Given the description of an element on the screen output the (x, y) to click on. 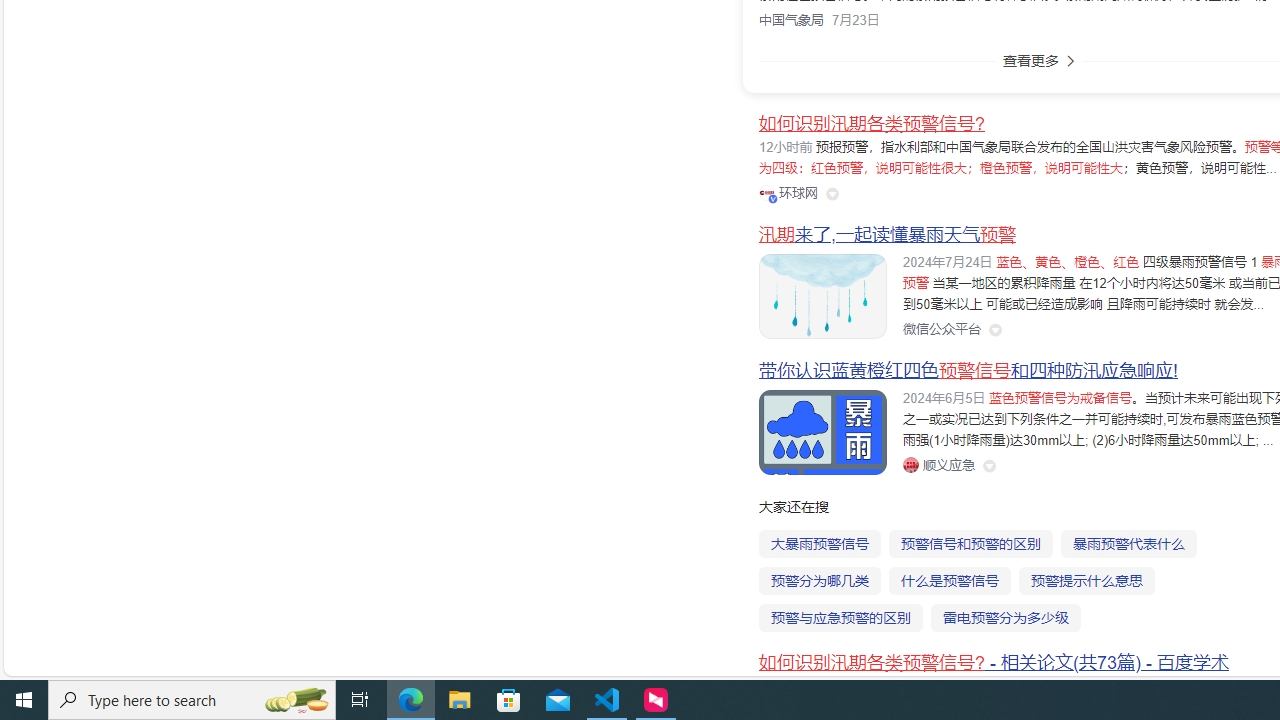
Class: vip-icon_kNmNt (773, 198)
Class: siteLink_9TPP3 (938, 465)
